Given the description of an element on the screen output the (x, y) to click on. 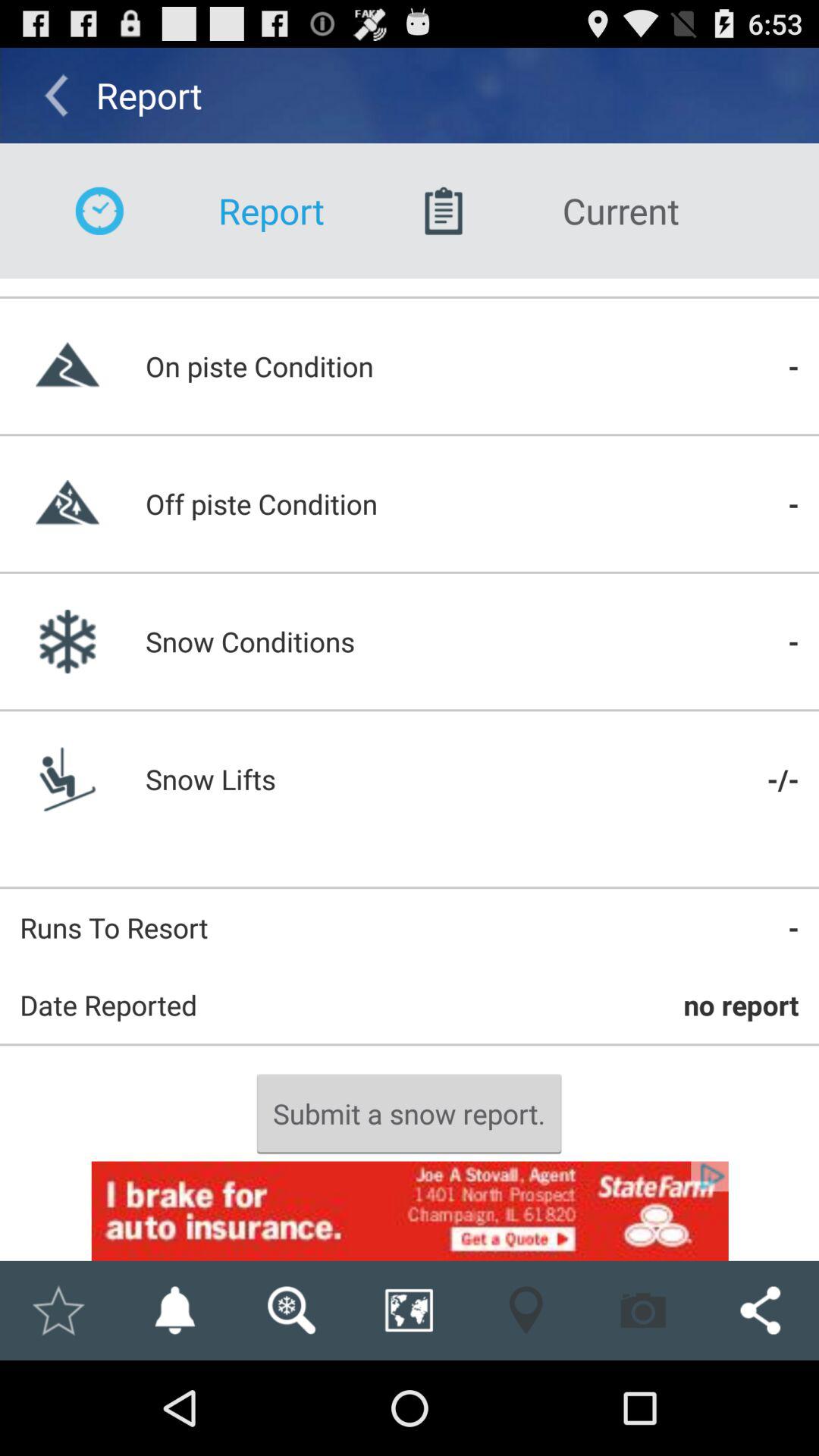
to view add (409, 1210)
